Given the description of an element on the screen output the (x, y) to click on. 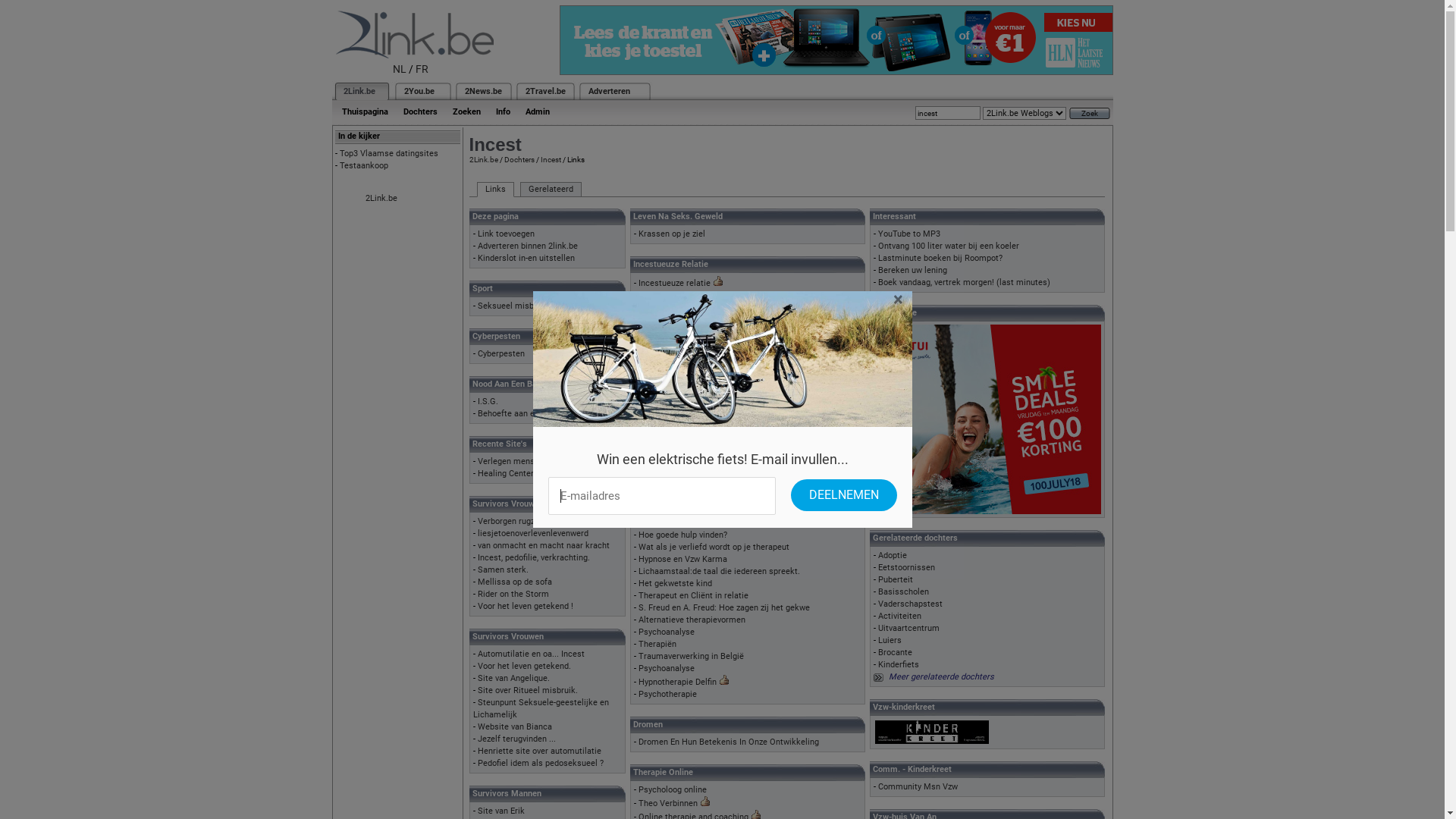
Pedofiel idem als pedoseksueel ? Element type: text (540, 763)
Lichaamstaal:de taal die iedereen spreekt. Element type: text (719, 571)
Ontvang 100 liter water bij een koeler Element type: text (948, 246)
Mellissa op de sofa Element type: text (514, 581)
Top3 Vlaamse datingsites Element type: text (388, 153)
Eetstoornissen Element type: text (906, 567)
Samen sterk. Element type: text (502, 569)
2Link.be Element type: text (482, 159)
Activiteiten Element type: text (899, 616)
Burnout Element type: text (653, 378)
Behoefte aan een babbel Element type: text (524, 413)
Healing Center Element type: text (505, 473)
Wat als je verliefd wordt op je therapeut Element type: text (713, 547)
Henriette site over automutilatie Element type: text (539, 751)
I.S.G. Element type: text (487, 401)
Hypnose en Vzw Karma Element type: text (682, 559)
YouTube to MP3 Element type: text (909, 233)
Incest Element type: text (549, 159)
Adoptie Element type: text (892, 555)
Uitvaartcentrum Element type: text (908, 628)
Voor het leven getekend. Element type: text (524, 666)
Verborgen rugzak Element type: text (510, 521)
Hoe goede hulp vinden? Element type: text (682, 534)
Bereken uw lening Element type: text (912, 270)
Site over Ritueel misbruik. Element type: text (527, 690)
S. Freud en A. Freud: Hoe zagen zij het gekwe Element type: text (723, 607)
Dochters Element type: text (420, 111)
liesjetoenoverlevenlevenwerd Element type: text (532, 533)
Het gekwetste kind Element type: text (675, 583)
Hooggevoelige Personen Element type: text (684, 330)
Adverteren binnen 2link.be Element type: text (527, 246)
2Link.be Element type: text (381, 198)
2You.be Element type: text (418, 91)
Traumaversterking Element type: text (674, 426)
Website van Bianca Element type: text (514, 726)
Thuispagina Element type: text (364, 111)
Cyberpesten Element type: text (500, 353)
Haptotherapie Element type: text (665, 474)
Brocante Element type: text (895, 652)
Admin Element type: text (536, 111)
2Link.be Element type: text (358, 91)
Theo Verbinnen Element type: text (667, 803)
Krassen op je ziel Element type: text (671, 233)
Kinderslot in-en uitstellen Element type: text (525, 258)
Site van Erik Element type: text (500, 810)
Psychoanalyse Element type: text (666, 668)
Behandeling depressie Element type: text (681, 510)
2Travel.be Element type: text (544, 91)
Link toevoegen Element type: text (505, 233)
Basisscholen Element type: text (903, 591)
Meer gerelateerde dochters Element type: text (941, 676)
Jezelf terugvinden ... Element type: text (516, 738)
Haptotherapie Element type: text (665, 486)
Automutilatie en oa... Incest Element type: text (530, 653)
Seksueel misbruik bij sport Element type: text (529, 305)
Kinderfiets Element type: text (898, 664)
van onmacht en macht naar kracht Element type: text (543, 545)
Info Element type: text (502, 111)
Dromen En Hun Betekenis In Onze Ontwikkeling Element type: text (728, 741)
Puberteit Element type: text (895, 579)
2News.be Element type: text (482, 91)
Community Msn Vzw Element type: text (917, 786)
Zoek Element type: text (1089, 113)
Alternatieve therapievormen Element type: text (691, 619)
Luiers Element type: text (889, 640)
NL Element type: text (399, 68)
Zoeken Element type: text (465, 111)
Boek vandaag, vertrek morgen! (last minutes) Element type: text (964, 282)
Psychoanalyse Element type: text (666, 632)
Dochters Element type: text (518, 159)
Steunpunt Seksuele-geestelijke en Lichamelijk Element type: text (540, 708)
Verlegen mensen Element type: text (510, 461)
Incest, pedofilie, verkrachting. Element type: text (533, 557)
Incestueuze relatie Element type: text (674, 283)
Links Element type: text (494, 189)
Psychotherapie Element type: text (667, 694)
Trauma Healing Element type: text (668, 498)
FR Element type: text (421, 68)
Psycholoog online Element type: text (672, 789)
Adverteren Element type: text (609, 91)
Site eetstoornissen An Vandeputte. Element type: text (705, 522)
Gerelateerd Element type: text (550, 189)
Vaderschapstest Element type: text (910, 603)
Voor het leven getekend ! Element type: text (525, 606)
Lastminute boeken bij Roompot? Element type: text (940, 258)
Rider on the Storm Element type: text (513, 594)
Hypnotherapie Delfin Element type: text (677, 682)
Testaankoop Element type: text (363, 165)
Site van Angelique. Element type: text (513, 678)
